Given the description of an element on the screen output the (x, y) to click on. 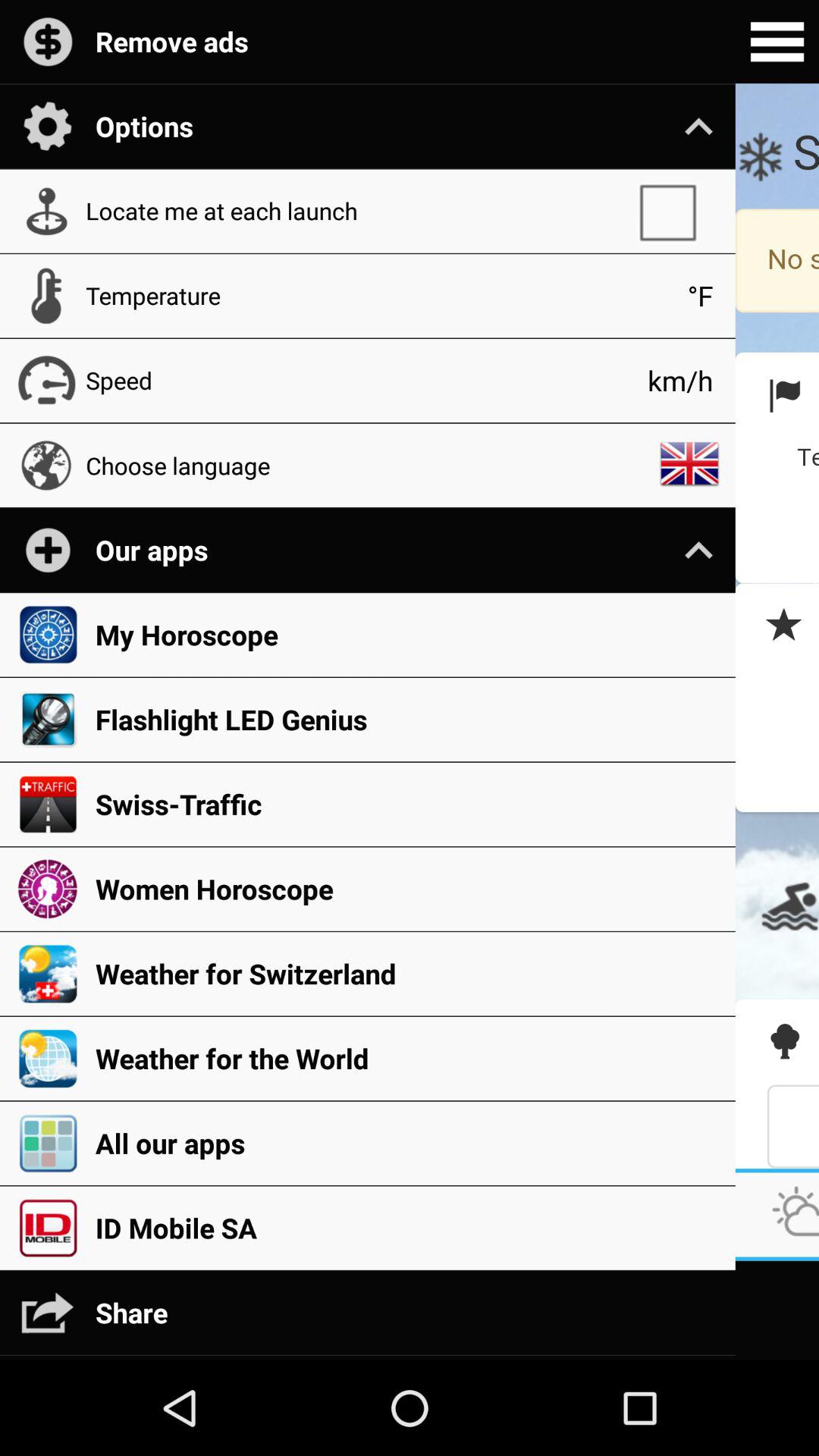
click the icon above women horoscope (407, 804)
